Given the description of an element on the screen output the (x, y) to click on. 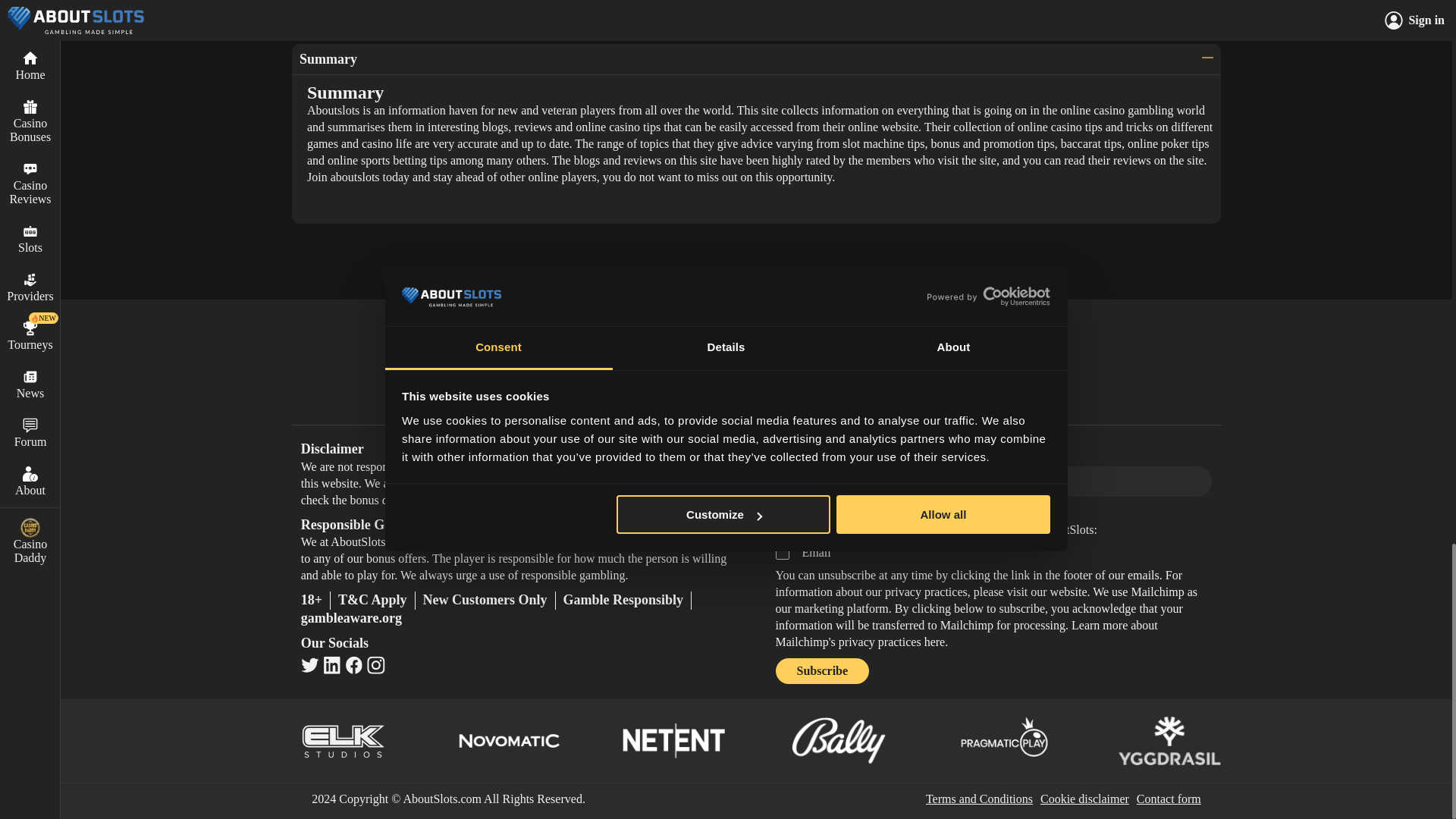
CasinoDaddy-LinkedIn (331, 665)
CasinoDaddy-Facebook (353, 665)
CasinoDaddy-Instagram (375, 665)
CasinoDaddy-Twitter (309, 665)
